Given the description of an element on the screen output the (x, y) to click on. 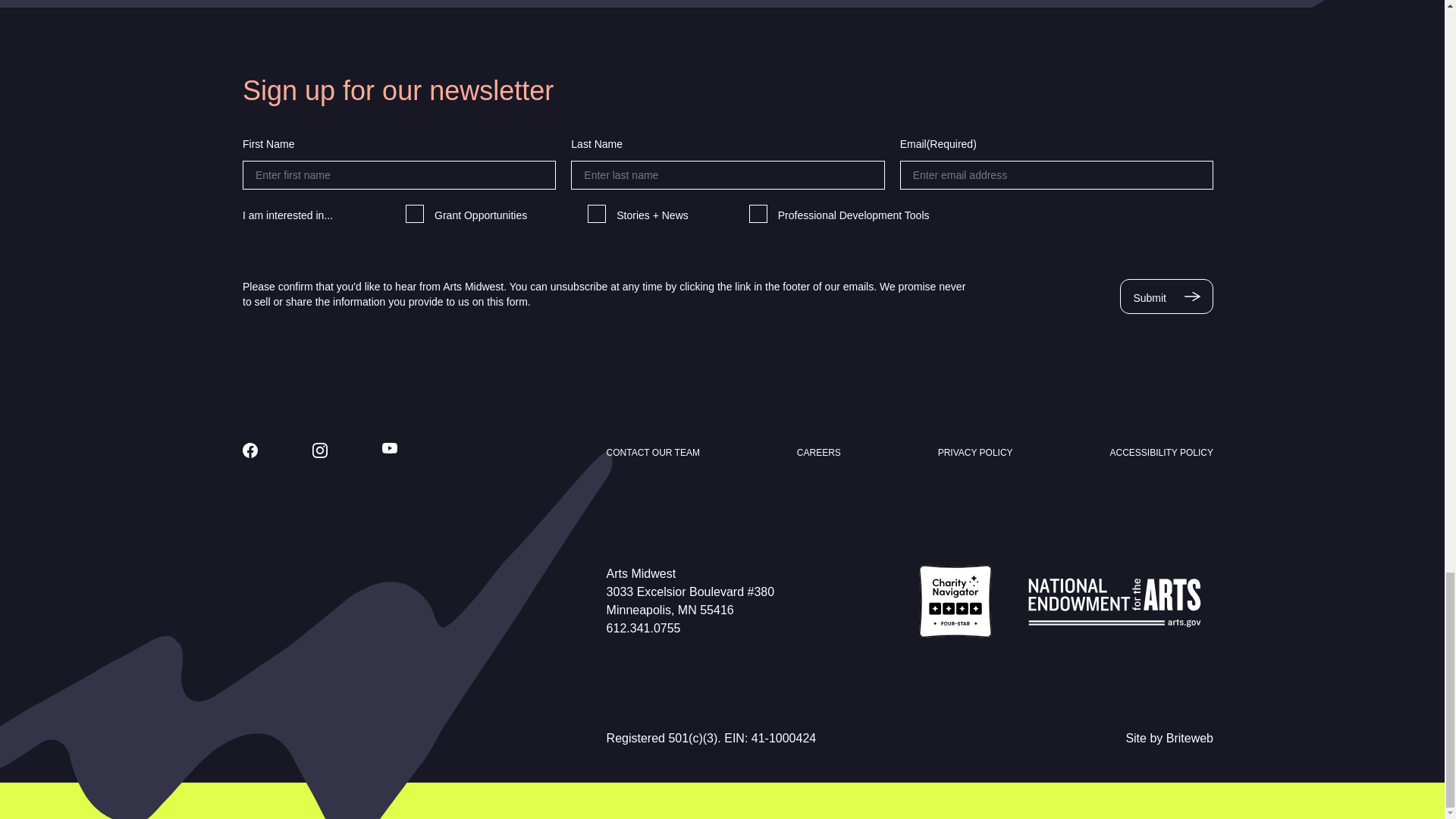
Accessibility Policy (1160, 452)
Follow us on Facebook (250, 450)
Grant Opportunities (414, 213)
Contact Our Team (653, 452)
National Endowment for the Arts (1114, 601)
Arts Midwest on Charity Navigator (954, 601)
Professional Development Tools (758, 213)
Privacy Policy (975, 452)
Follow us on Instagram (320, 450)
Follow us on Youtube (389, 448)
